Given the description of an element on the screen output the (x, y) to click on. 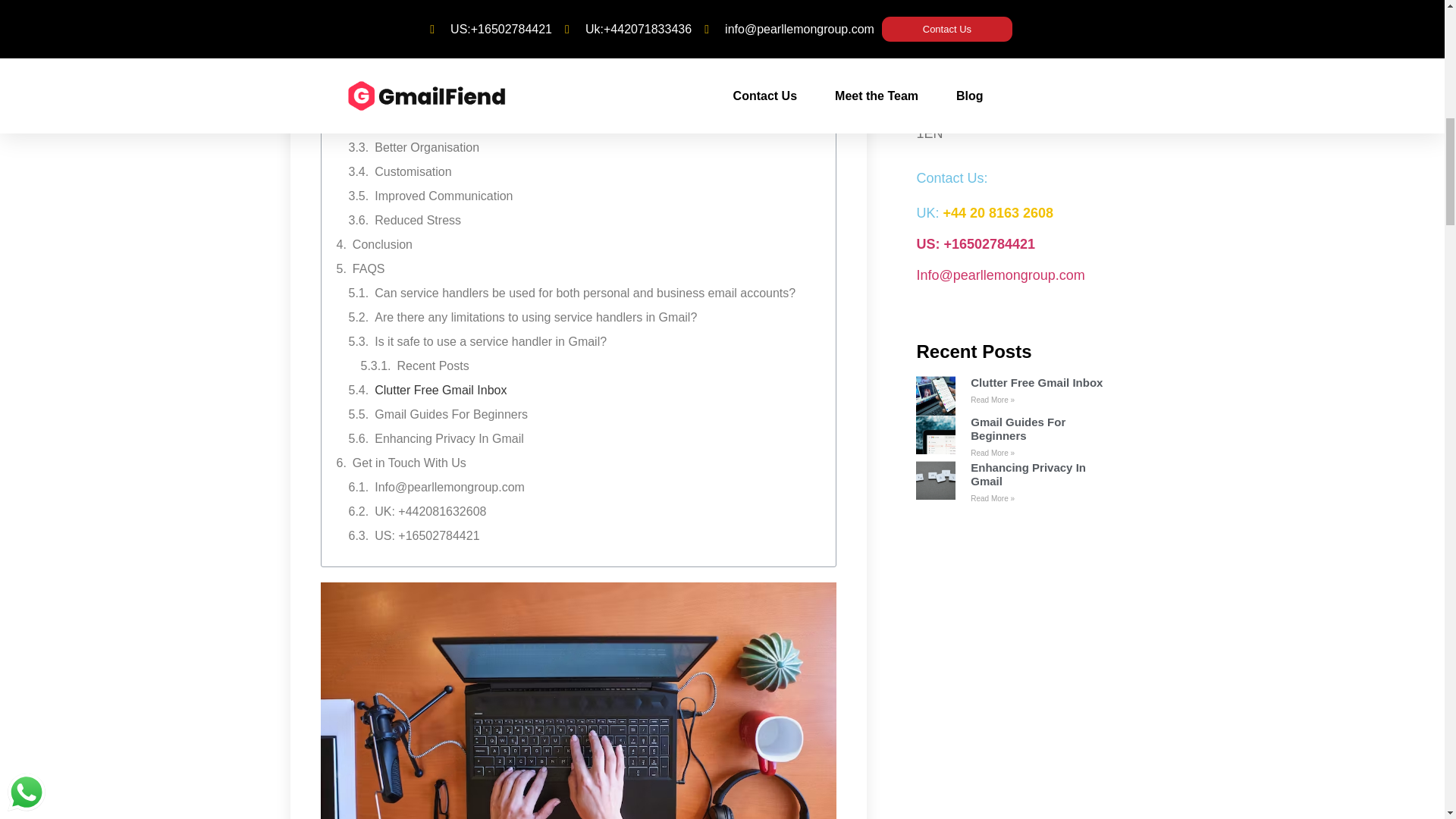
Service Handler Gmail (577, 700)
How To Install A Service Handler In Gmail (464, 26)
Time-Saving (408, 99)
FAQS (368, 269)
Improved Communication (443, 196)
Better Organisation (426, 147)
Reduced Stress (417, 220)
Customisation (412, 171)
Conclusion (382, 244)
Benefits Of Using A Service Handler In Gmail (473, 75)
Increased Productivity (433, 123)
Examples Of Gmail Service Handler Use Cases (481, 50)
